Given the description of an element on the screen output the (x, y) to click on. 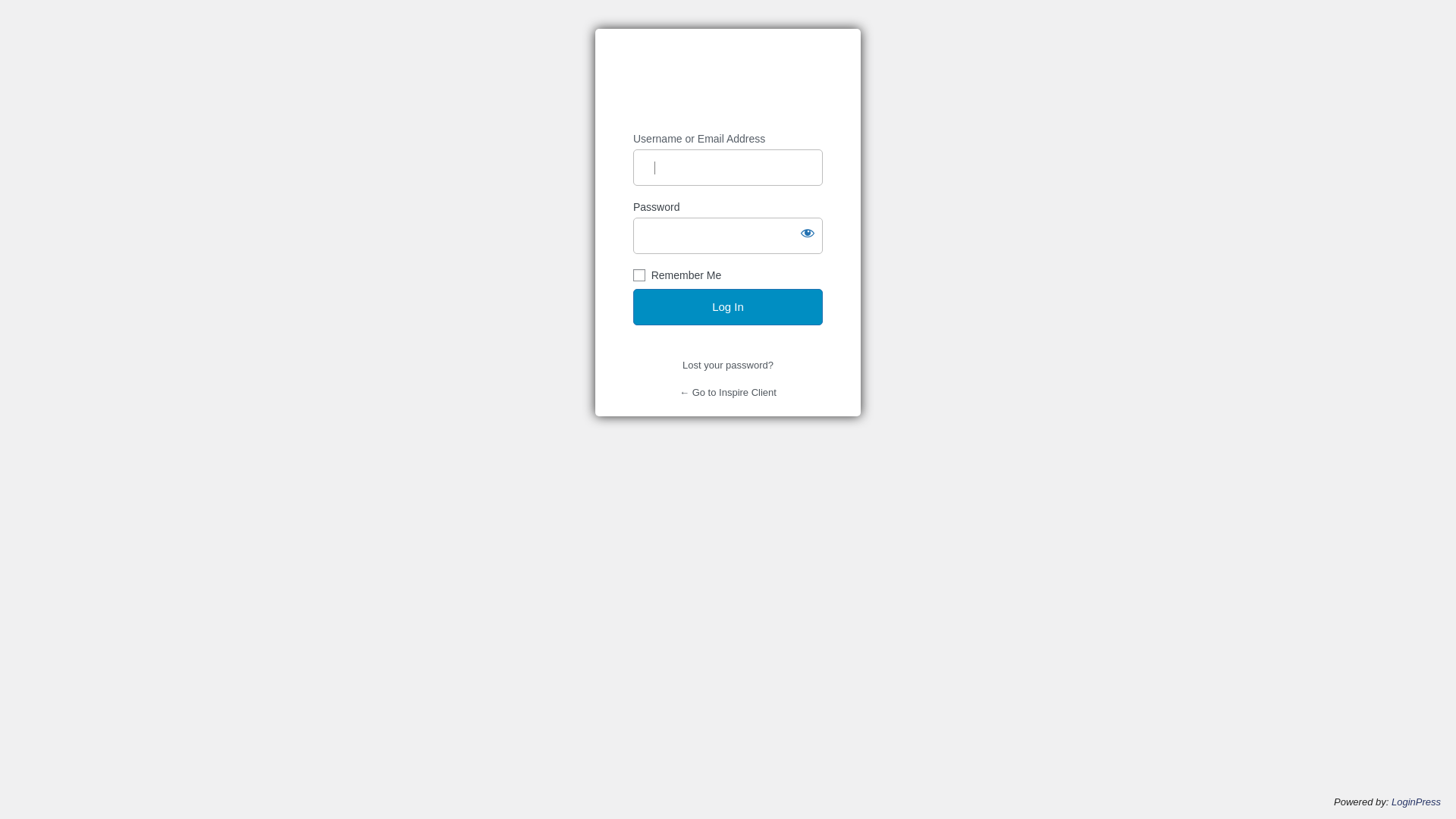
Log In Element type: text (727, 306)
https://clients.inspirestyleandliving.com.au Element type: text (727, 80)
Lost your password? Element type: text (727, 364)
LoginPress Element type: text (1415, 801)
